Given the description of an element on the screen output the (x, y) to click on. 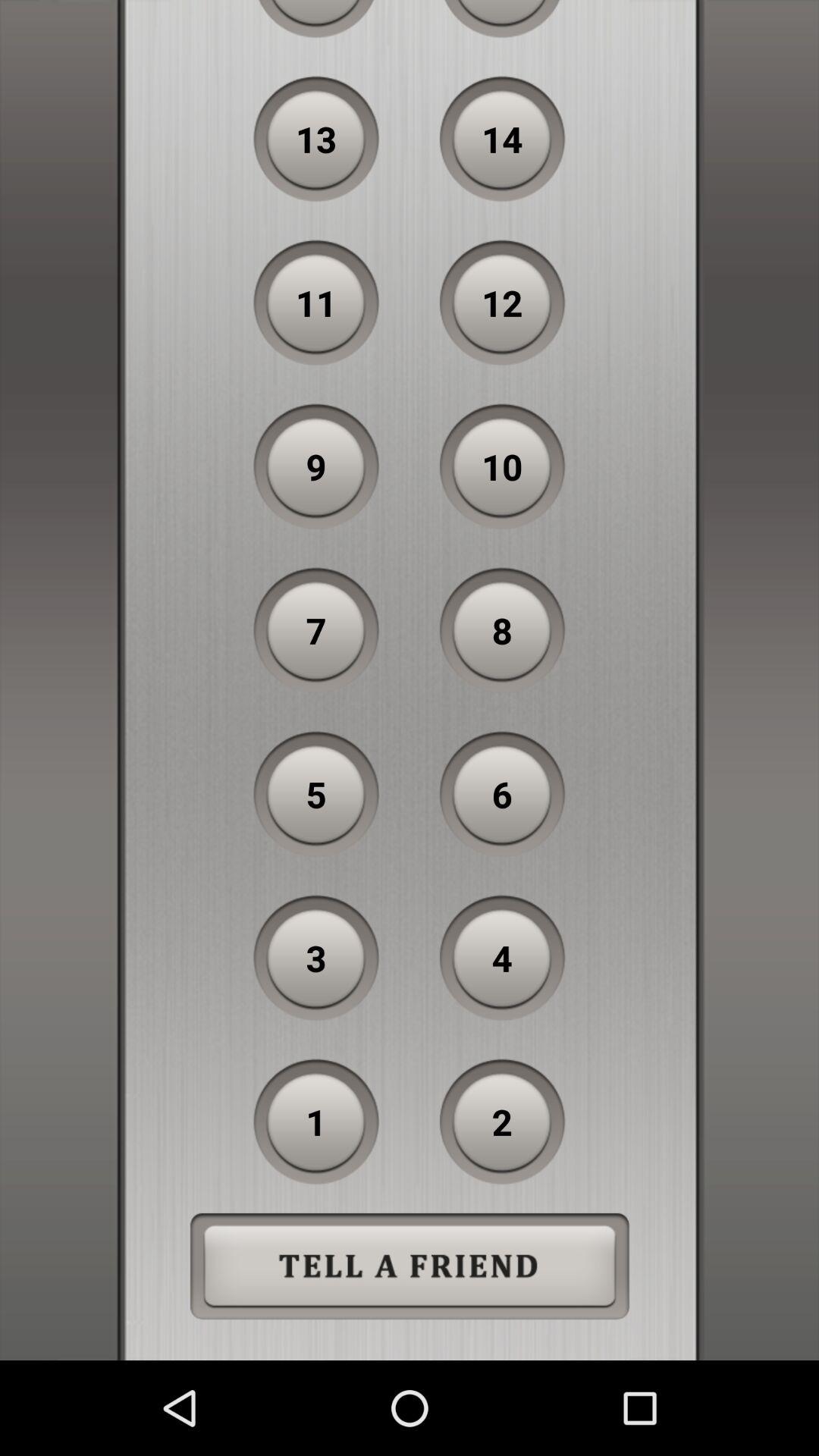
turn on the 6 icon (502, 794)
